Given the description of an element on the screen output the (x, y) to click on. 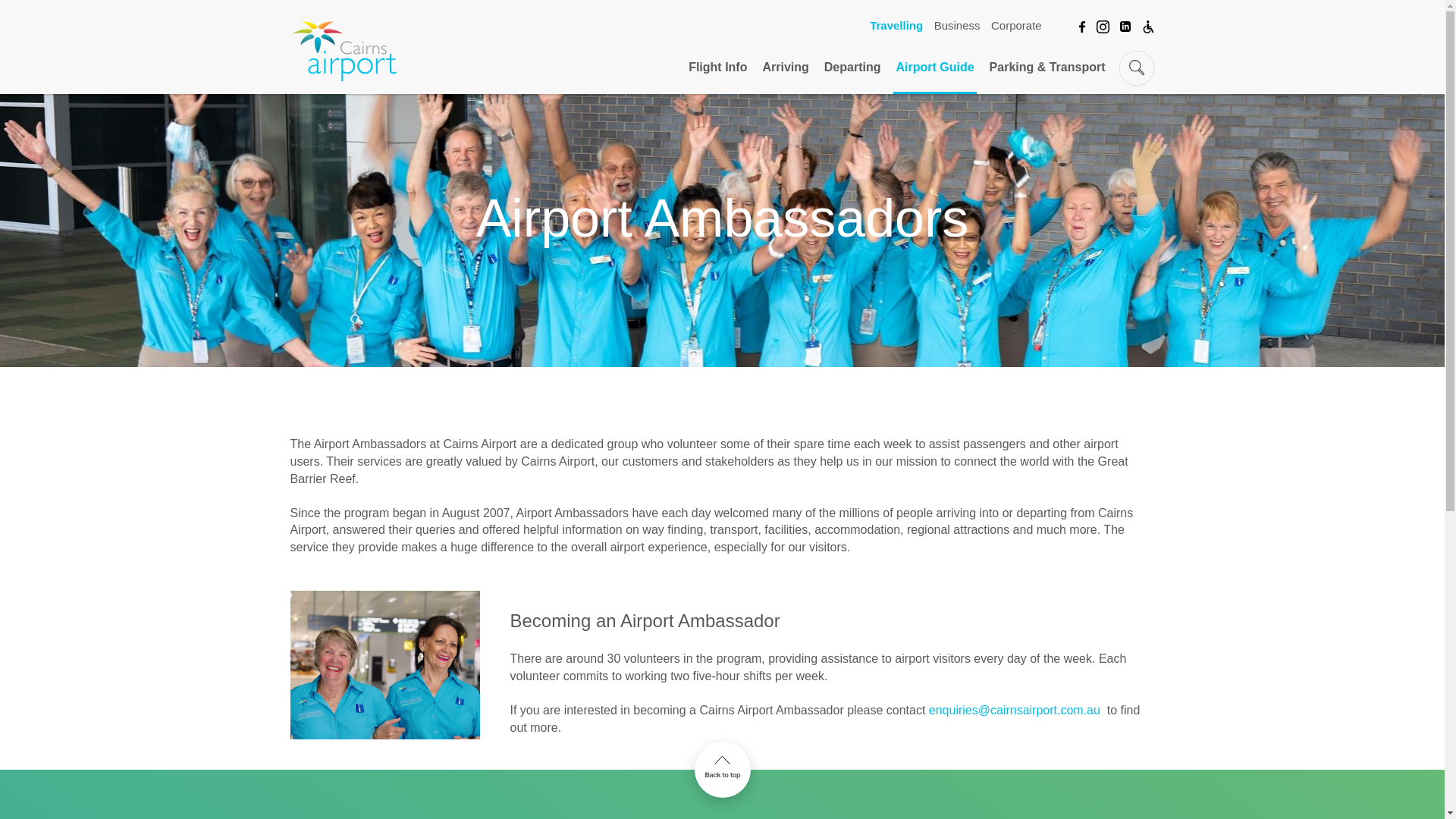
Corporate (1016, 23)
Flight Info (717, 76)
Switch to Business (956, 23)
Airport Guide (934, 76)
Travelling (896, 23)
Arriving (785, 76)
Switch to Corporate (1016, 23)
Switch to Travelling (896, 23)
Departing (852, 76)
Business (956, 23)
